Given the description of an element on the screen output the (x, y) to click on. 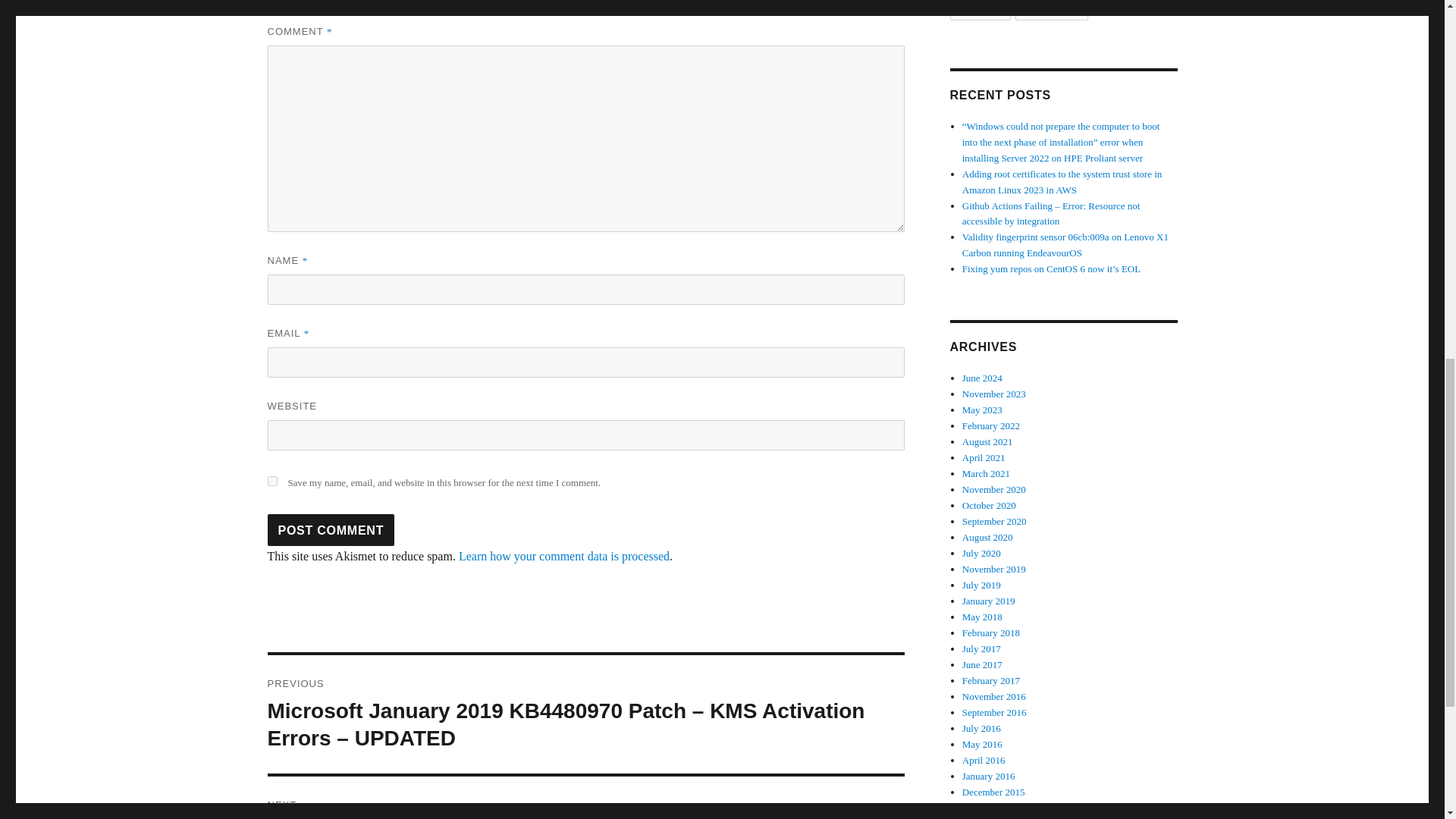
yes (271, 480)
Post Comment (330, 530)
Learn how your comment data is processed (563, 555)
Post Comment (330, 530)
